Given the description of an element on the screen output the (x, y) to click on. 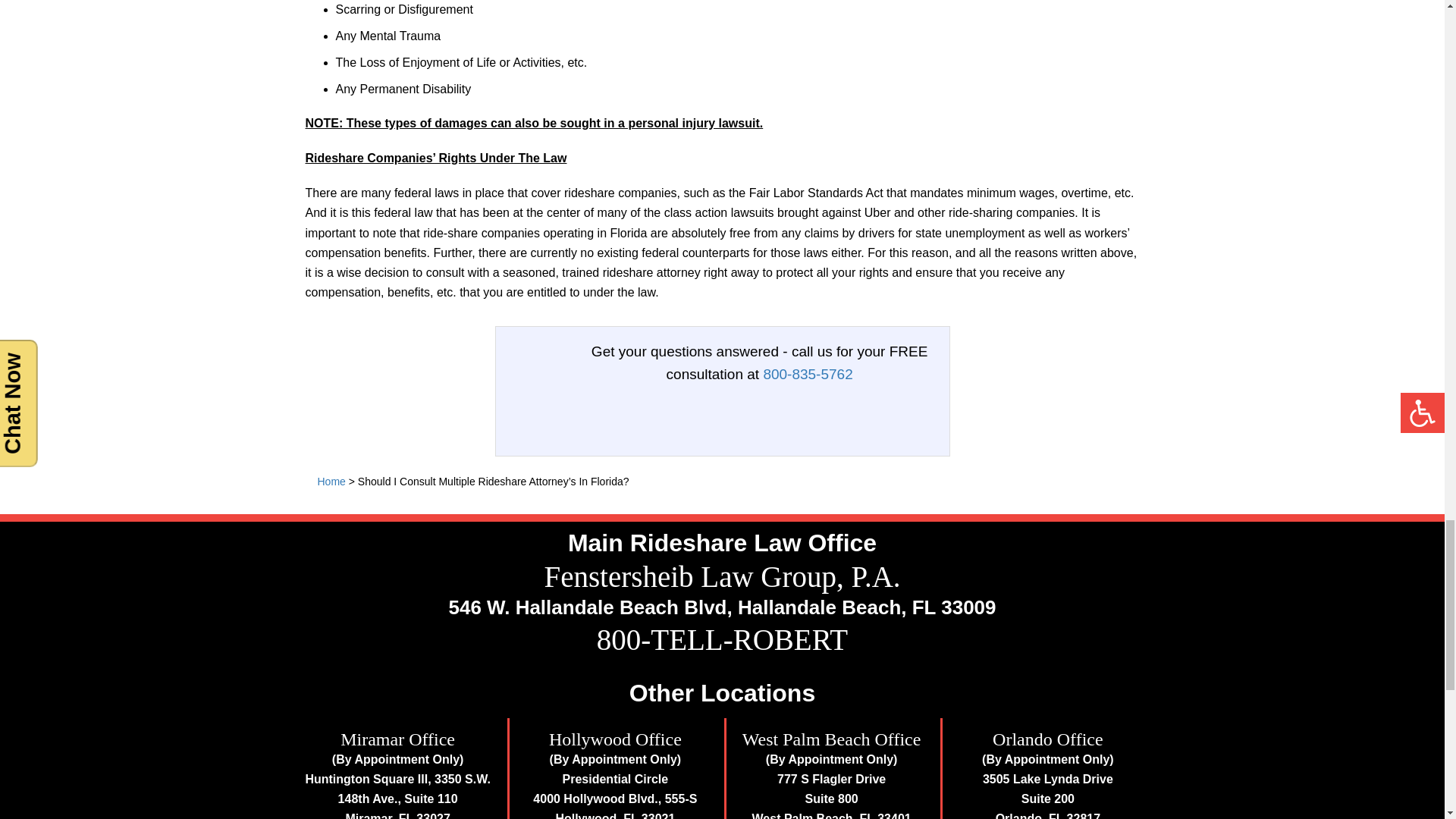
Go to Fenstersheib Law Group, P.A.. (331, 480)
